Given the description of an element on the screen output the (x, y) to click on. 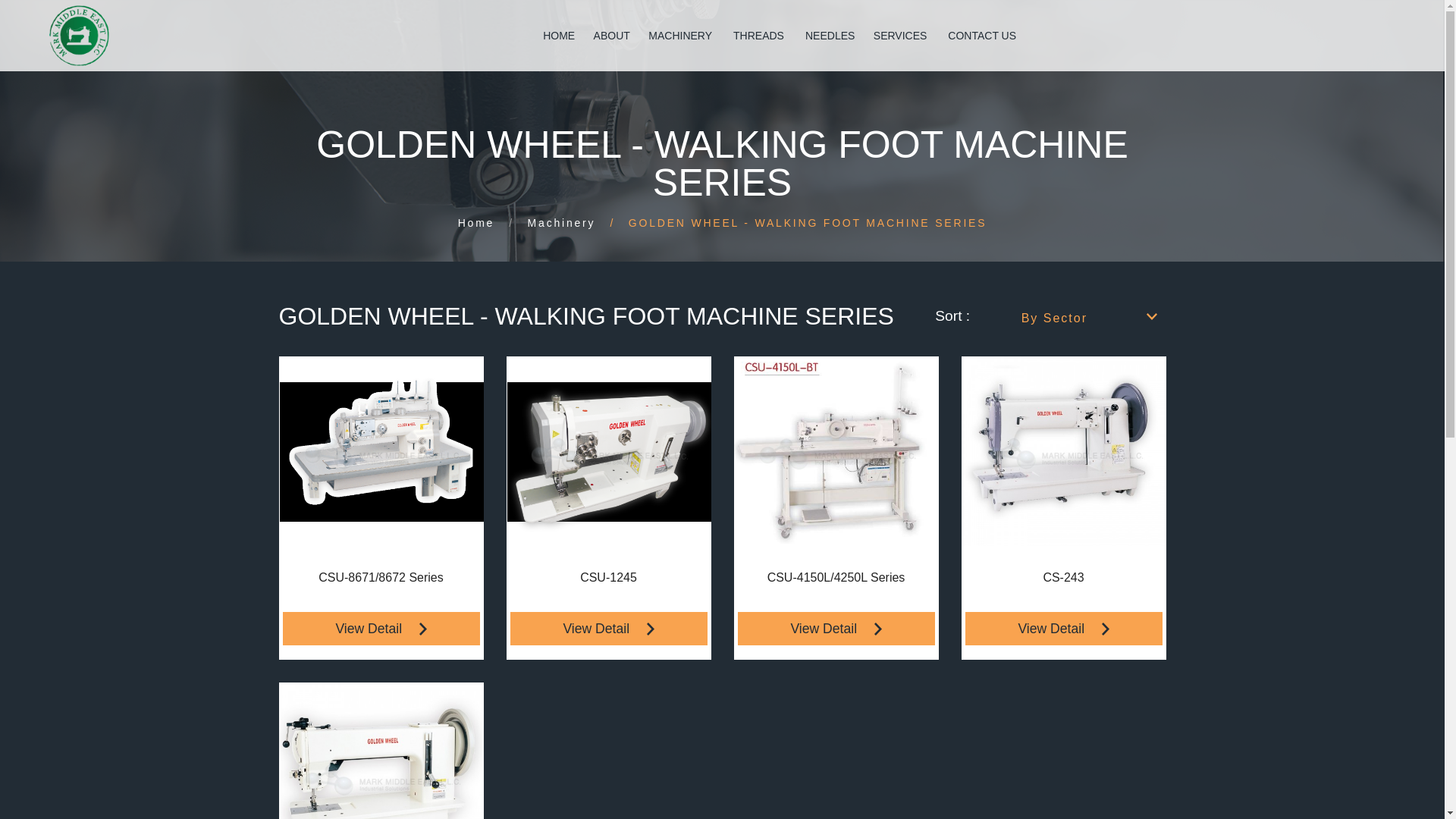
Machinery (561, 223)
View Detail (1062, 628)
CSU-1245 (608, 577)
SERVICES (901, 35)
View Detail (607, 628)
HOME (559, 35)
THREADS (759, 35)
ABOUT (612, 35)
View Detail (835, 628)
View Detail (380, 628)
NEEDLES (829, 35)
CONTACT US (981, 35)
Home (476, 223)
CS-243 (1064, 577)
MACHINERY (680, 35)
